Given the description of an element on the screen output the (x, y) to click on. 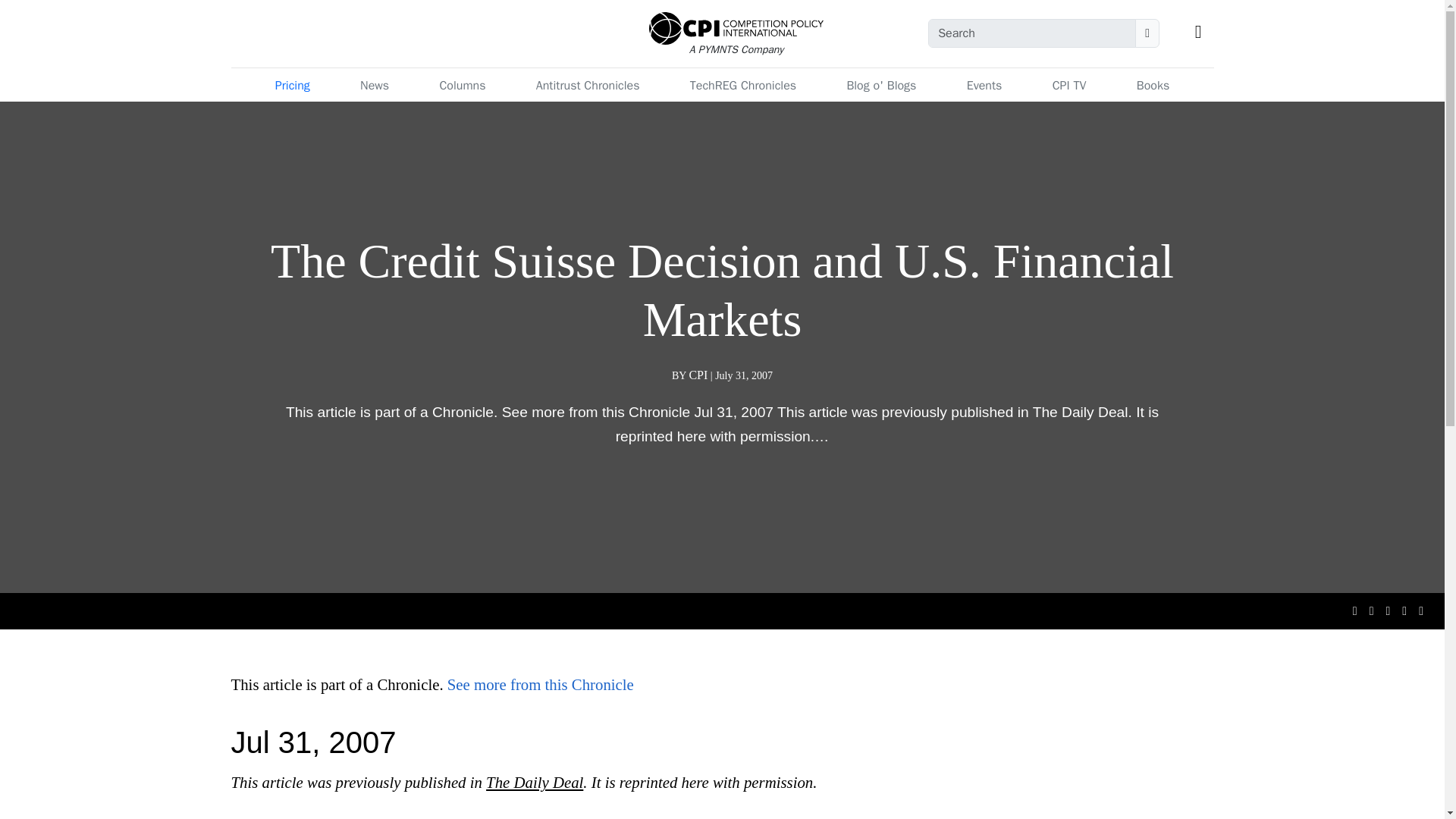
Books (1152, 85)
Blog o' Blogs (880, 85)
See more from this Chronicle (539, 683)
Antitrust Chronicles (587, 85)
CPI (697, 374)
Pricing (292, 85)
Columns (462, 85)
CPI TV (1069, 85)
News (373, 85)
Events (984, 85)
